Given the description of an element on the screen output the (x, y) to click on. 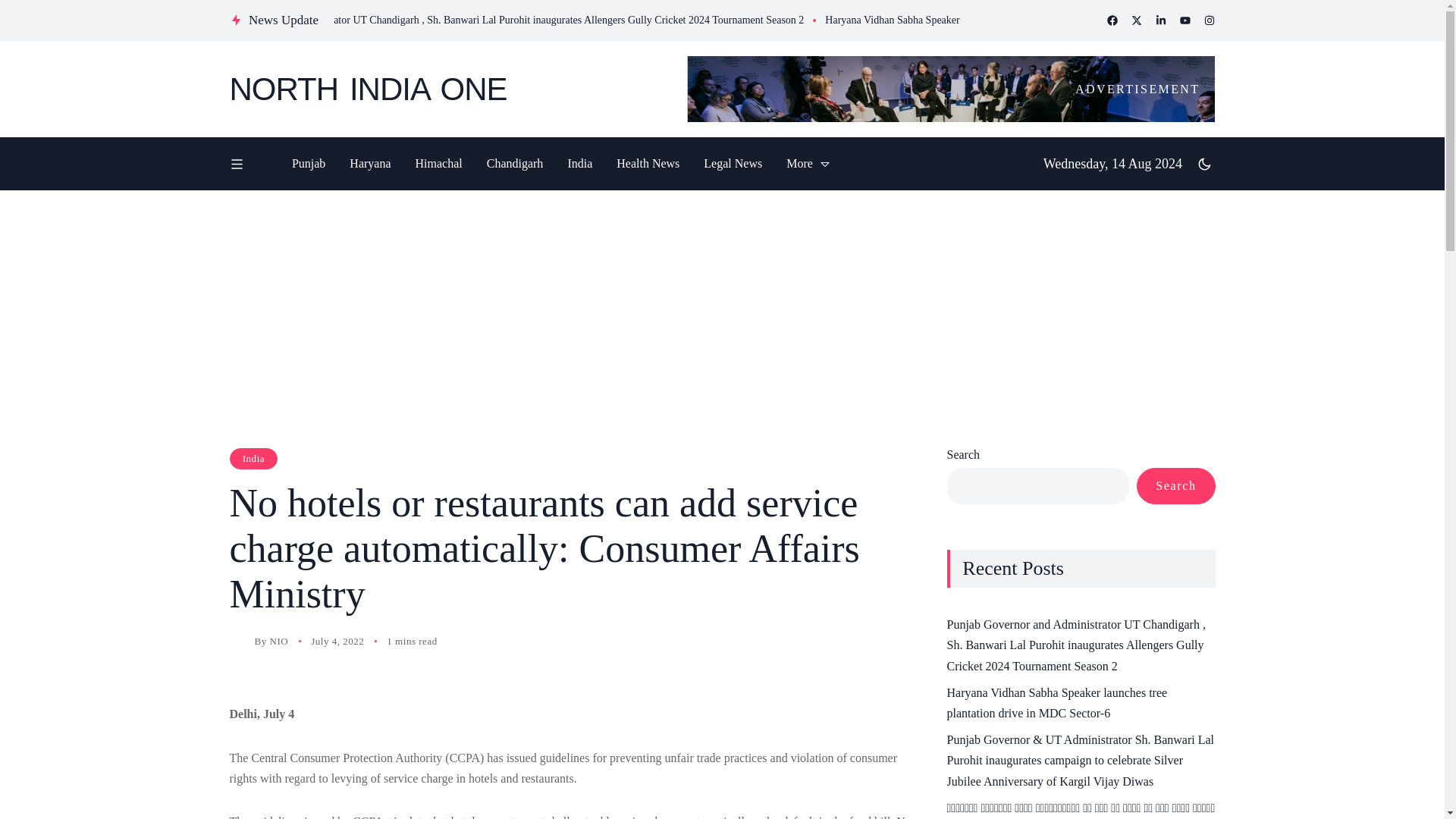
India (579, 163)
youtube (1185, 20)
Himachal (438, 163)
NORTH INDIA ONE (445, 88)
India (253, 458)
NIO (278, 641)
linkedin (1161, 20)
